Given the description of an element on the screen output the (x, y) to click on. 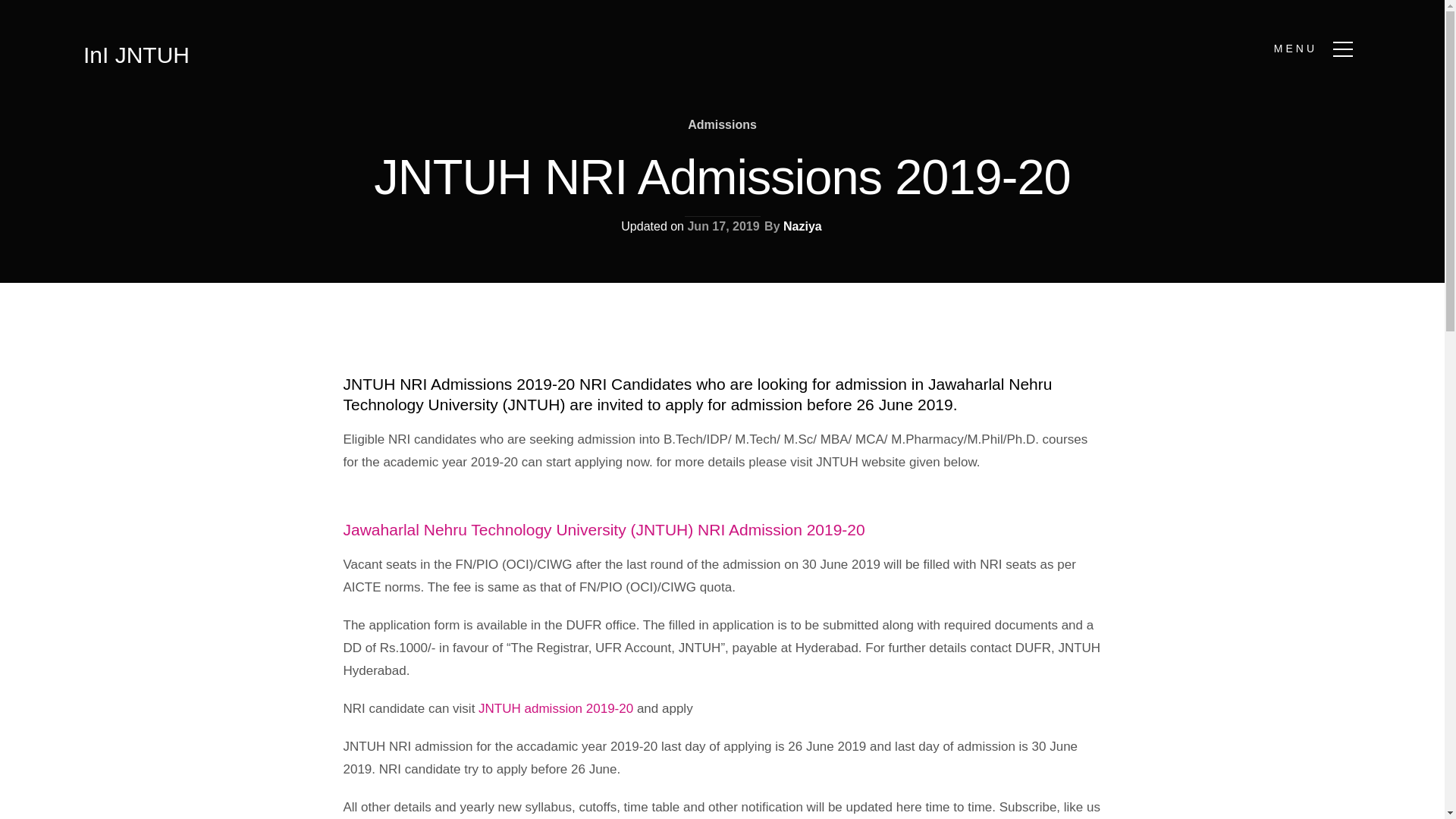
JNTUH admission 2019-20 (556, 708)
InI JNTUH (135, 54)
Jun 17, 2019 (722, 226)
Admissions (722, 124)
